Given the description of an element on the screen output the (x, y) to click on. 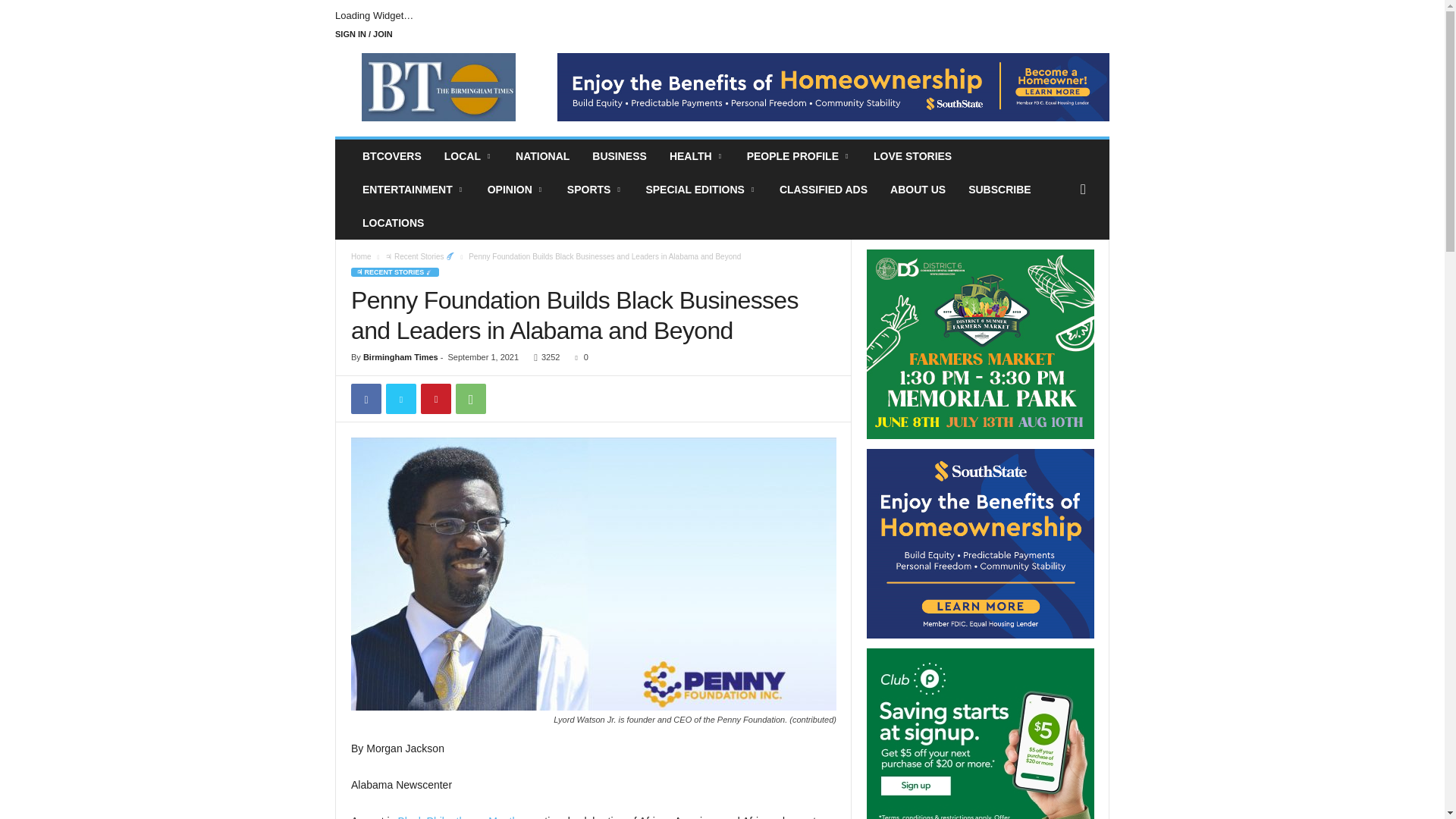
Pinterest (435, 399)
Penny 1 (592, 573)
WhatsApp (470, 399)
Twitter (400, 399)
Facebook (365, 399)
